Given the description of an element on the screen output the (x, y) to click on. 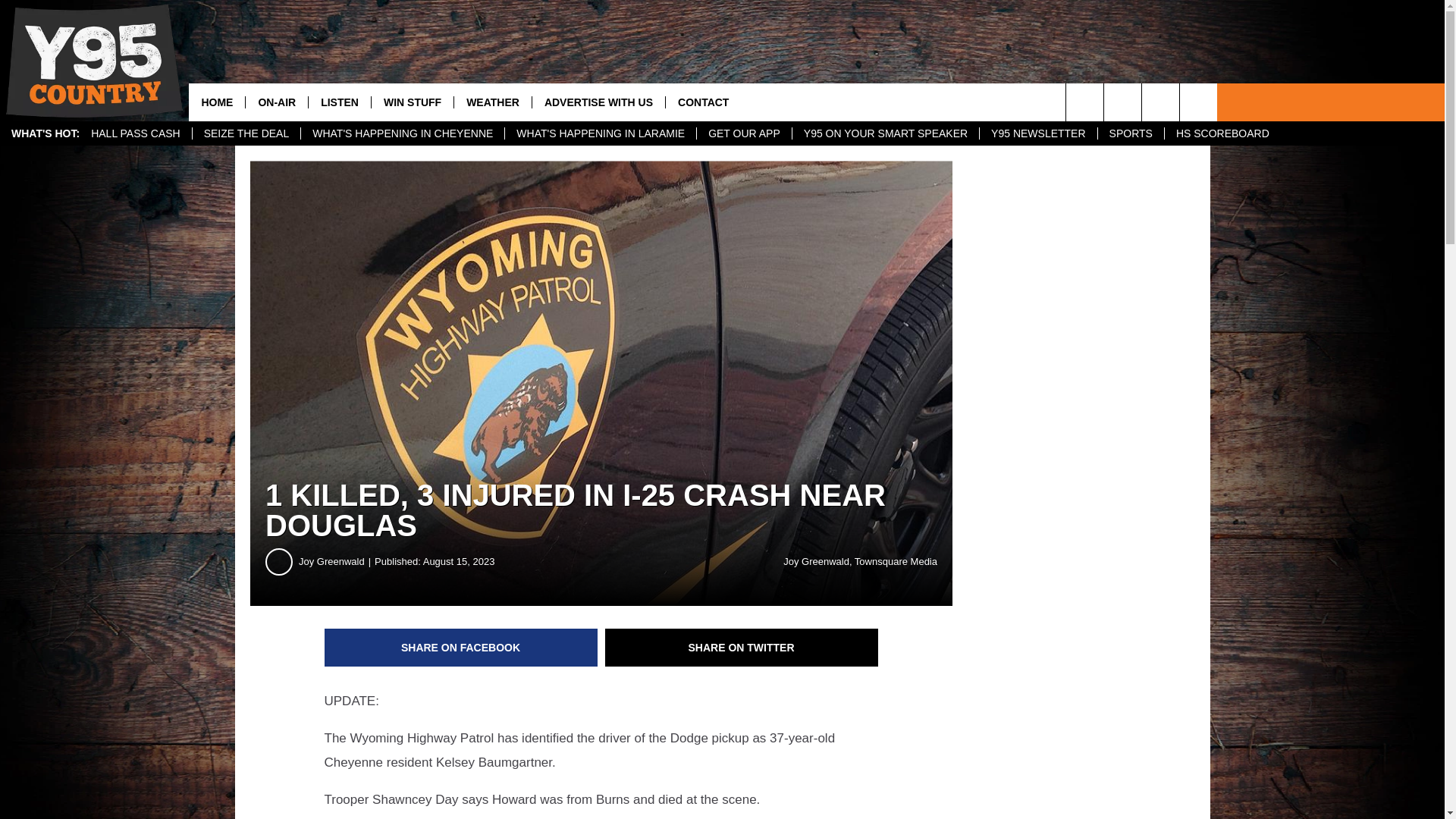
Y95 ON YOUR SMART SPEAKER (885, 133)
SEIZE THE DEAL (246, 133)
GET OUR APP (743, 133)
HALL PASS CASH (136, 133)
ADVERTISE WITH US (598, 102)
HS SCOREBOARD (1222, 133)
Share on Facebook (460, 647)
WIN STUFF (411, 102)
Y95 NEWSLETTER (1037, 133)
HOME (216, 102)
ON-AIR (275, 102)
SPORTS (1130, 133)
WEATHER (491, 102)
CONTACT (703, 102)
WHAT'S HAPPENING IN LARAMIE (599, 133)
